Given the description of an element on the screen output the (x, y) to click on. 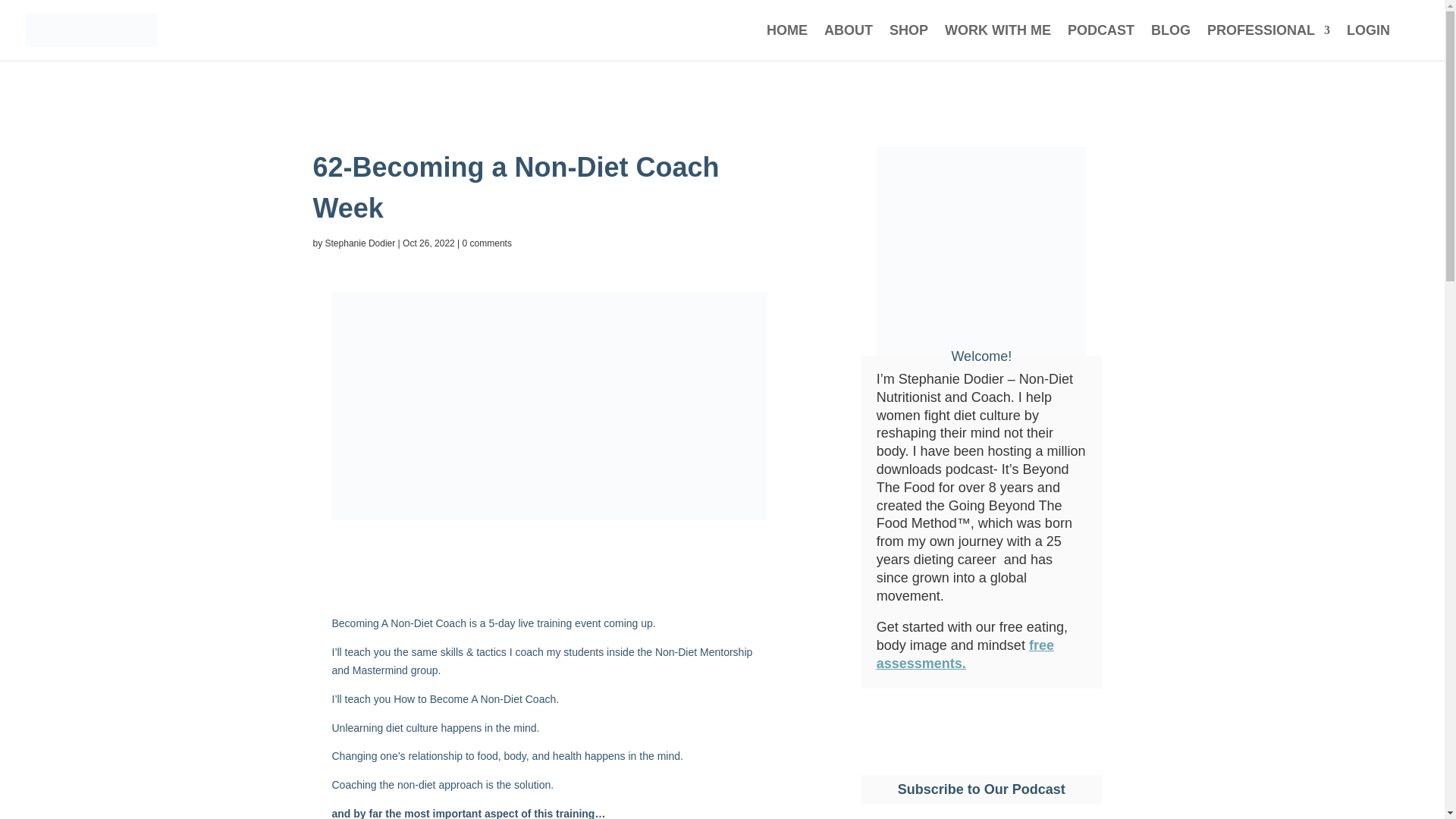
free (1041, 645)
HOME (787, 42)
ABOUT (848, 42)
BLOG (1171, 42)
assessments. (921, 663)
Posts by Stephanie Dodier (360, 243)
SHOP (908, 42)
WORK WITH ME (997, 42)
Stephanie Dodier (360, 243)
0 comments (487, 243)
